Given the description of an element on the screen output the (x, y) to click on. 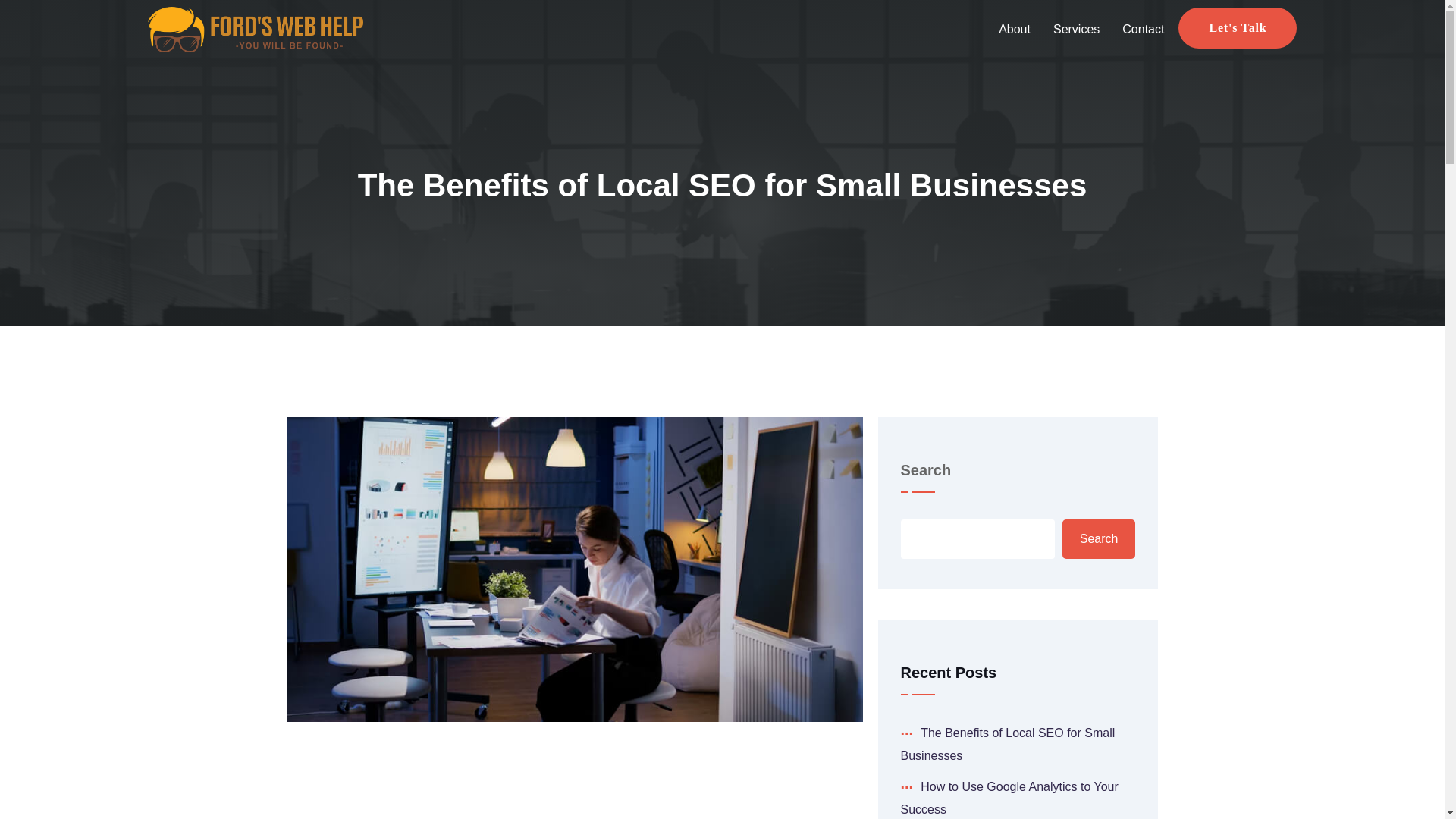
About (1014, 29)
How to Use Google Analytics to Your Success (1009, 797)
Let's Talk (1237, 27)
Search (1098, 538)
The Benefits of Local SEO for Small Businesses (1008, 744)
Contact (1142, 29)
Services (1076, 29)
